Given the description of an element on the screen output the (x, y) to click on. 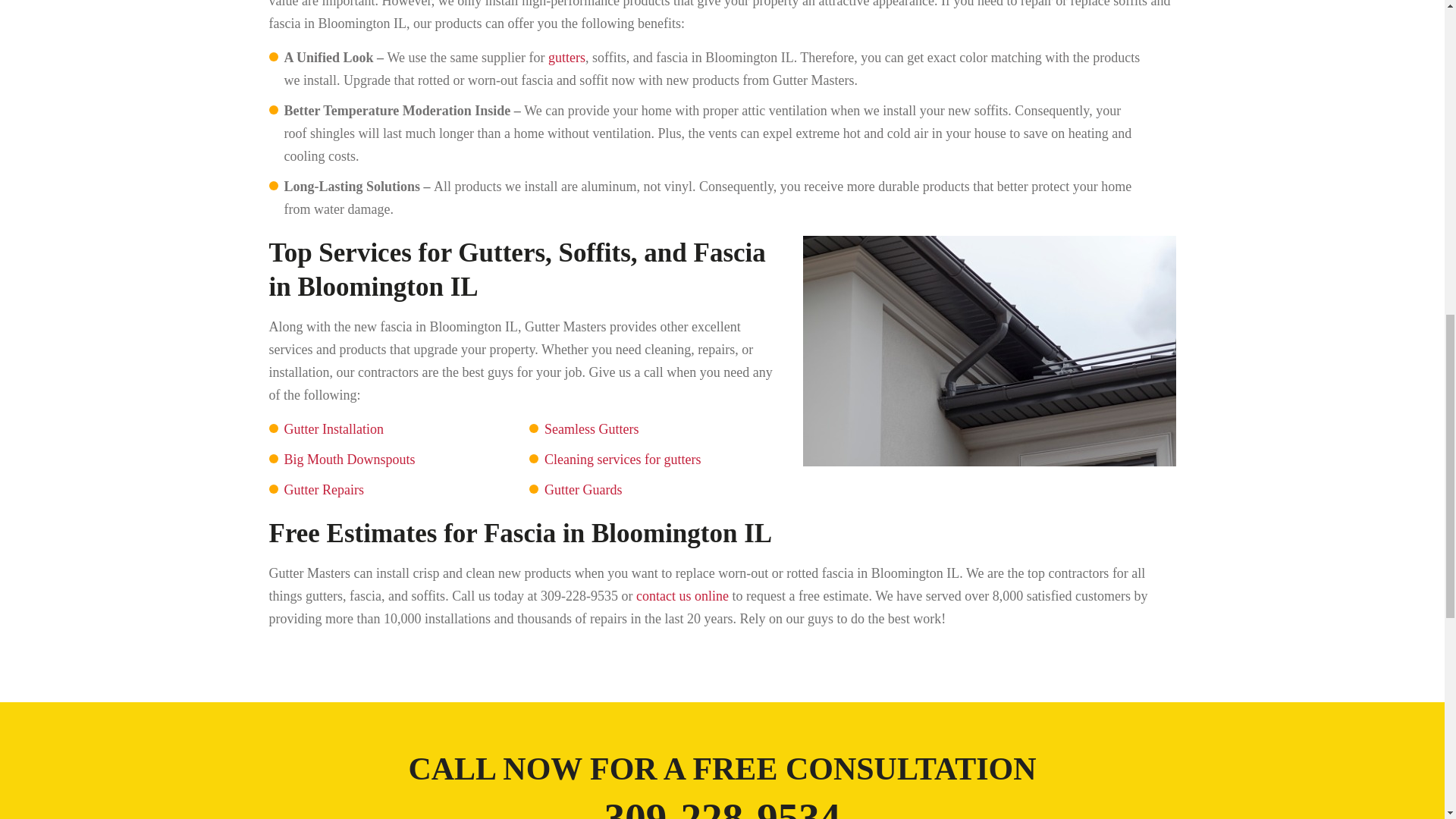
gutters (566, 57)
Gutter Repairs (322, 489)
contact us online (682, 595)
Gutter Installation (332, 428)
Cleaning services for gutters (622, 459)
Big Mouth Downspouts (348, 459)
Gutter Guards (582, 489)
Seamless Gutters (591, 428)
